Given the description of an element on the screen output the (x, y) to click on. 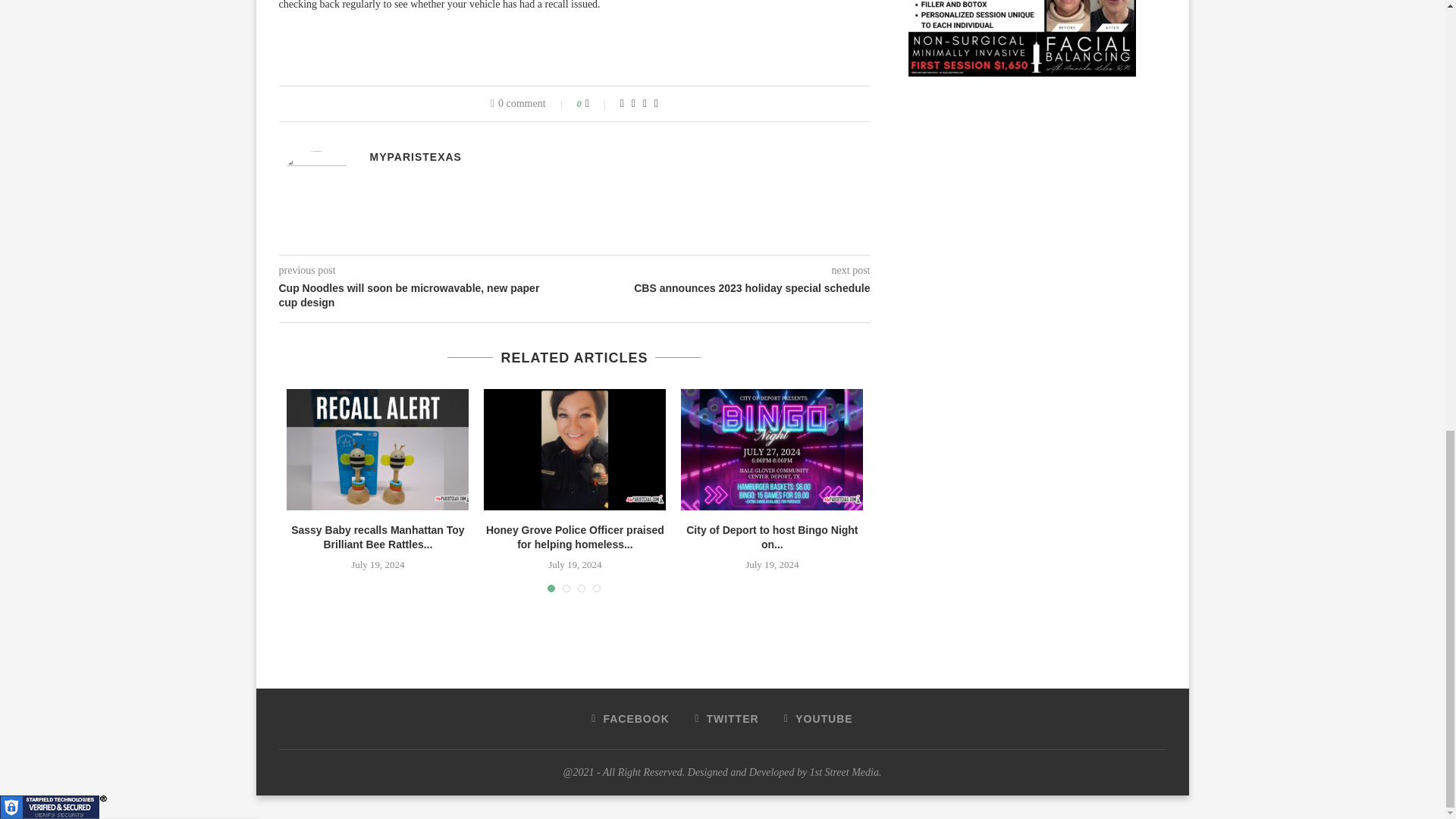
City of Deport to host Bingo Night on July 27 (772, 449)
Like (597, 103)
Honey Grove Police Officer praised for helping homeless man (574, 449)
Posts by MyParisTexas (415, 156)
